Given the description of an element on the screen output the (x, y) to click on. 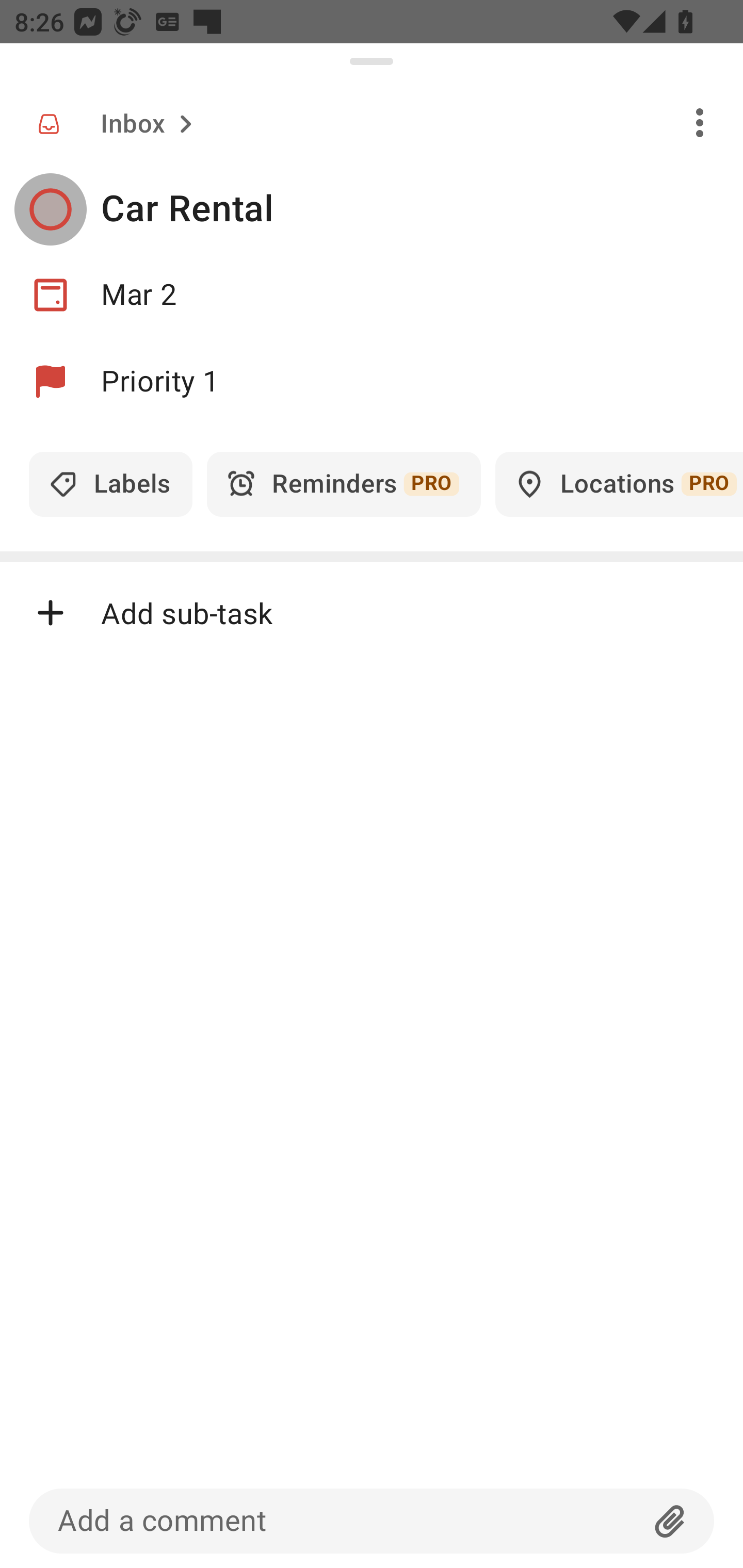
Overflow menu (699, 122)
Complete (50, 209)
Car Rental​ (422, 209)
Date Mar 2 (371, 295)
Priority Priority 1 (371, 381)
Labels (110, 484)
Reminders PRO (343, 484)
Locations PRO (619, 484)
Add sub-task (371, 612)
Add a comment Attachment (371, 1520)
Attachment (670, 1520)
